Given the description of an element on the screen output the (x, y) to click on. 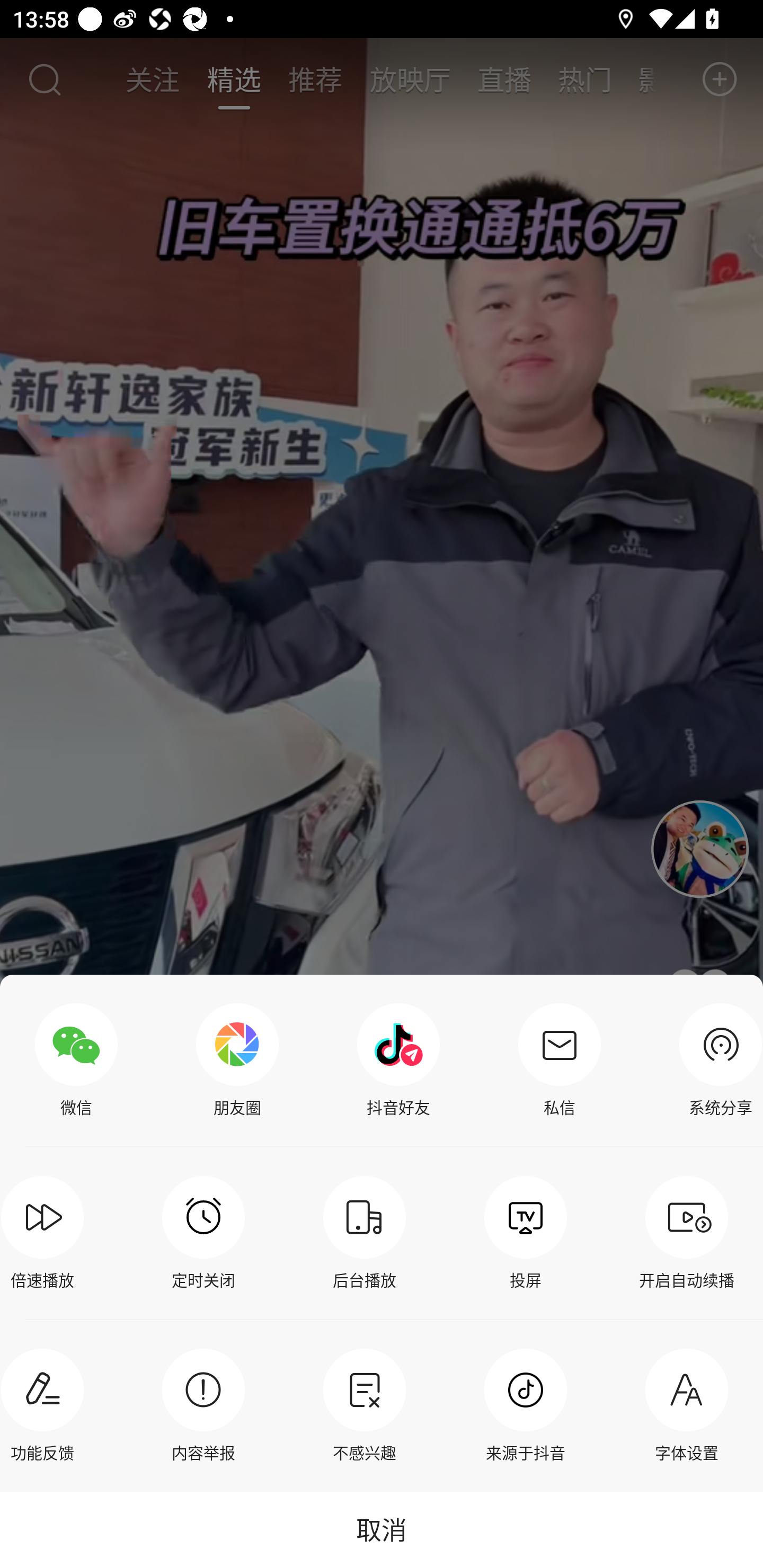
微信 (76, 1060)
朋友圈 (237, 1060)
抖音好友 (398, 1060)
私信 (559, 1060)
系统分享 (716, 1060)
倍速播放 (46, 1232)
定时关闭 (203, 1232)
后台播放 (364, 1232)
投屏 (525, 1232)
开启自动续播 (686, 1232)
功能反馈 (46, 1405)
内容举报 (203, 1405)
不感兴趣 (364, 1405)
来源于抖音 (525, 1405)
字体设置 (686, 1405)
取消 (381, 1529)
